Given the description of an element on the screen output the (x, y) to click on. 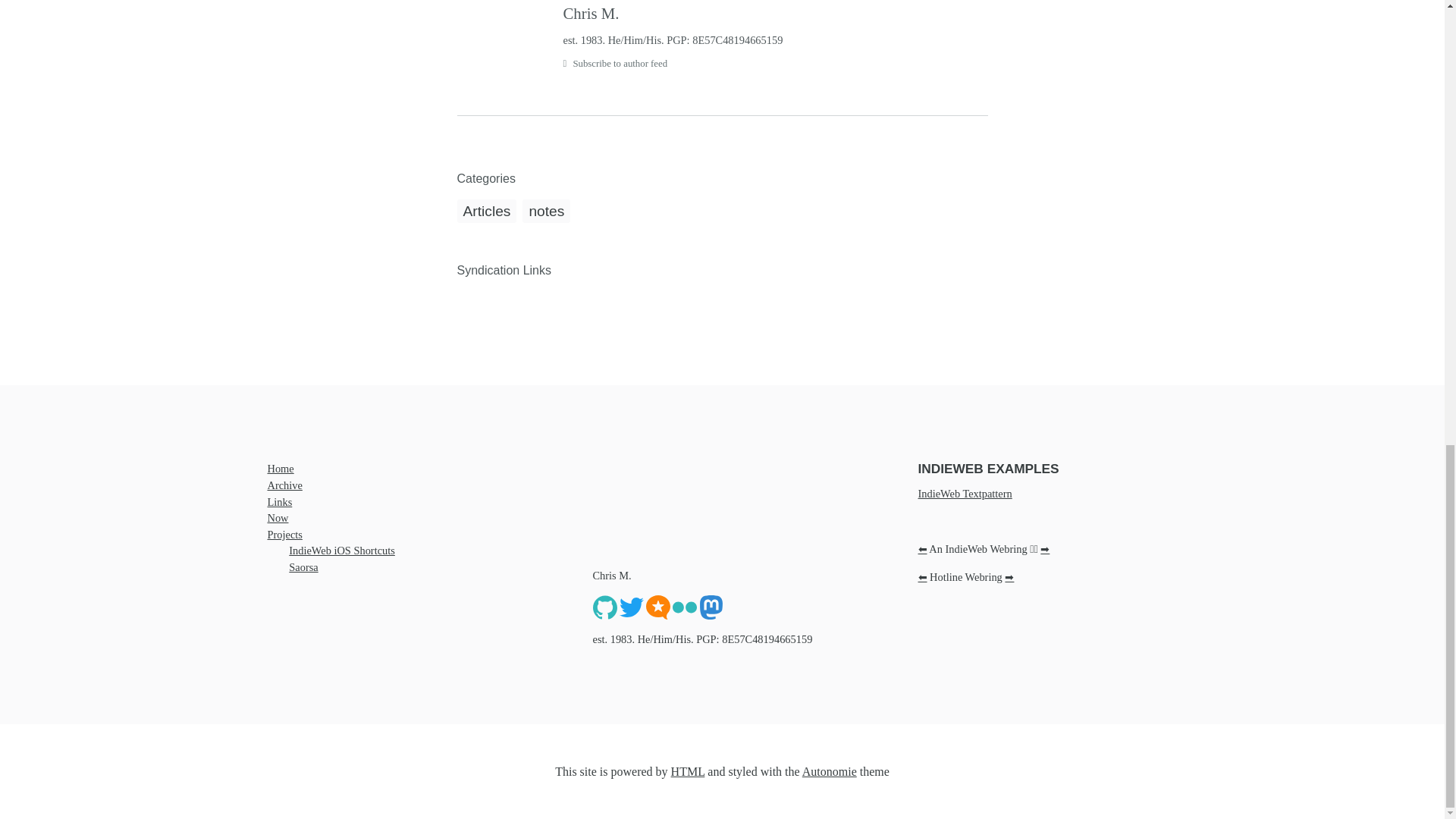
Flickr icon (683, 607)
Archive (283, 485)
Twitter icon (630, 606)
Links (279, 501)
IndieWeb iOS Shortcuts (341, 550)
GitHub icon (604, 607)
Twitter icon (630, 607)
Chris M. (774, 13)
notes (546, 210)
Micro.blog icon (657, 606)
Now (277, 517)
Mastodon icon (710, 607)
Micro.blog icon (657, 607)
Projects (283, 534)
Mastodon icon (710, 606)
